Given the description of an element on the screen output the (x, y) to click on. 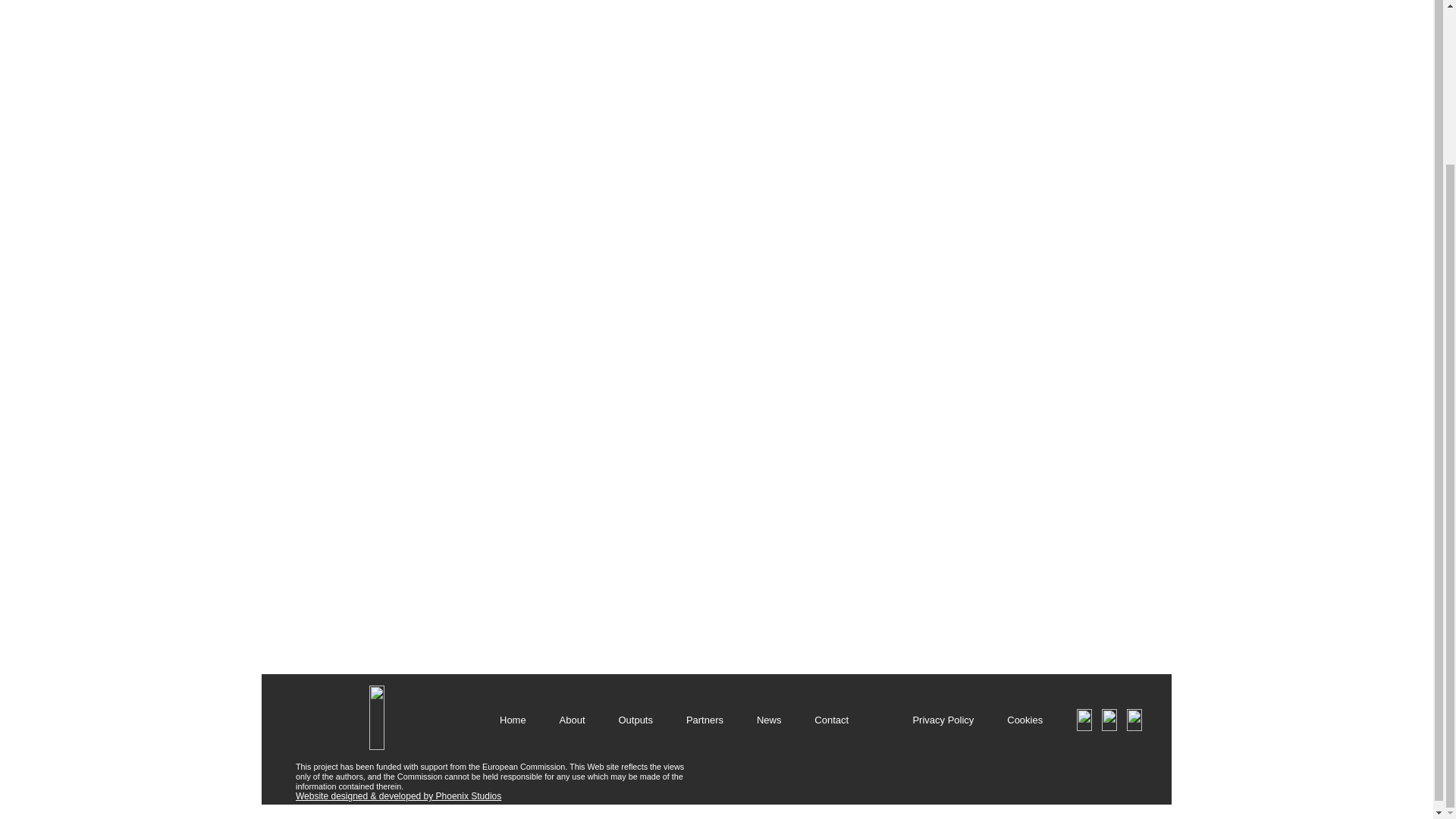
Home (512, 719)
Cookies (1024, 719)
Privacy Policy (942, 719)
Contact (831, 719)
About (571, 719)
Outputs (635, 719)
Partners (704, 719)
News (768, 719)
